Given the description of an element on the screen output the (x, y) to click on. 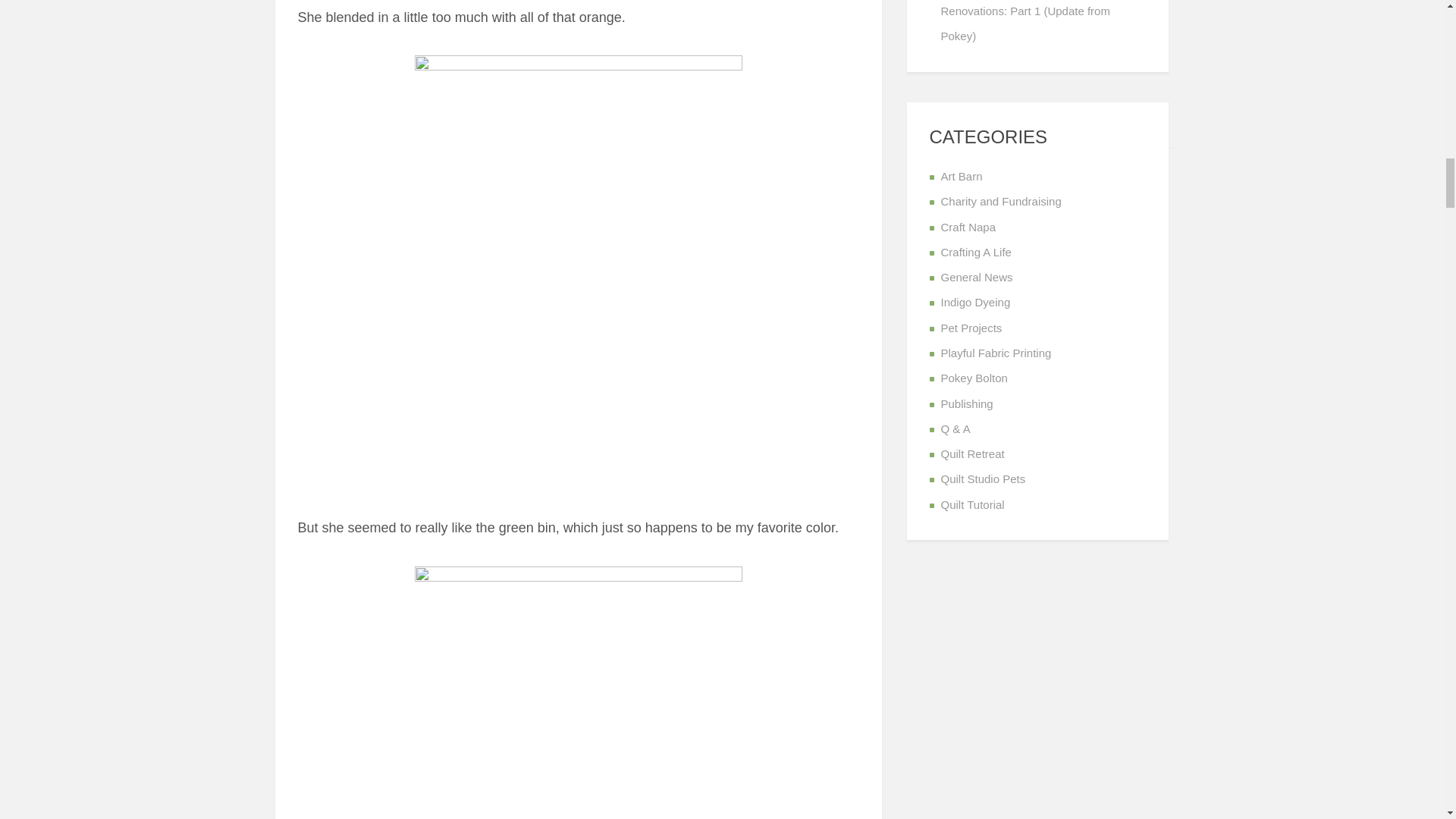
juicing (577, 690)
